Given the description of an element on the screen output the (x, y) to click on. 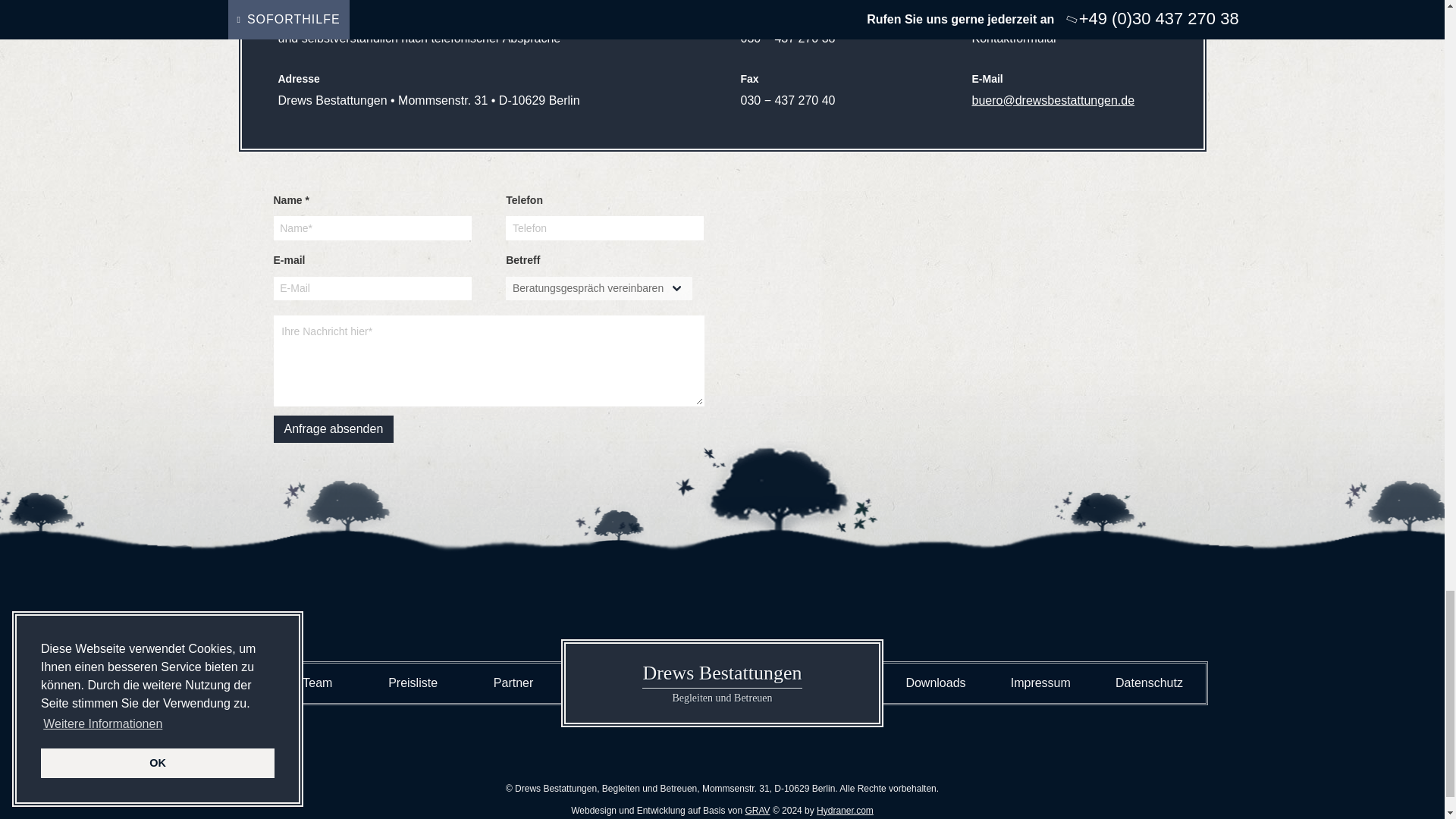
Downloads (935, 682)
Datenschutz (1149, 682)
Partner (512, 682)
Anfrage absenden (333, 429)
Preisliste (412, 682)
Unser Team (300, 682)
GRAV (757, 810)
Hydraner.com (844, 810)
Impressum (1040, 682)
